Given the description of an element on the screen output the (x, y) to click on. 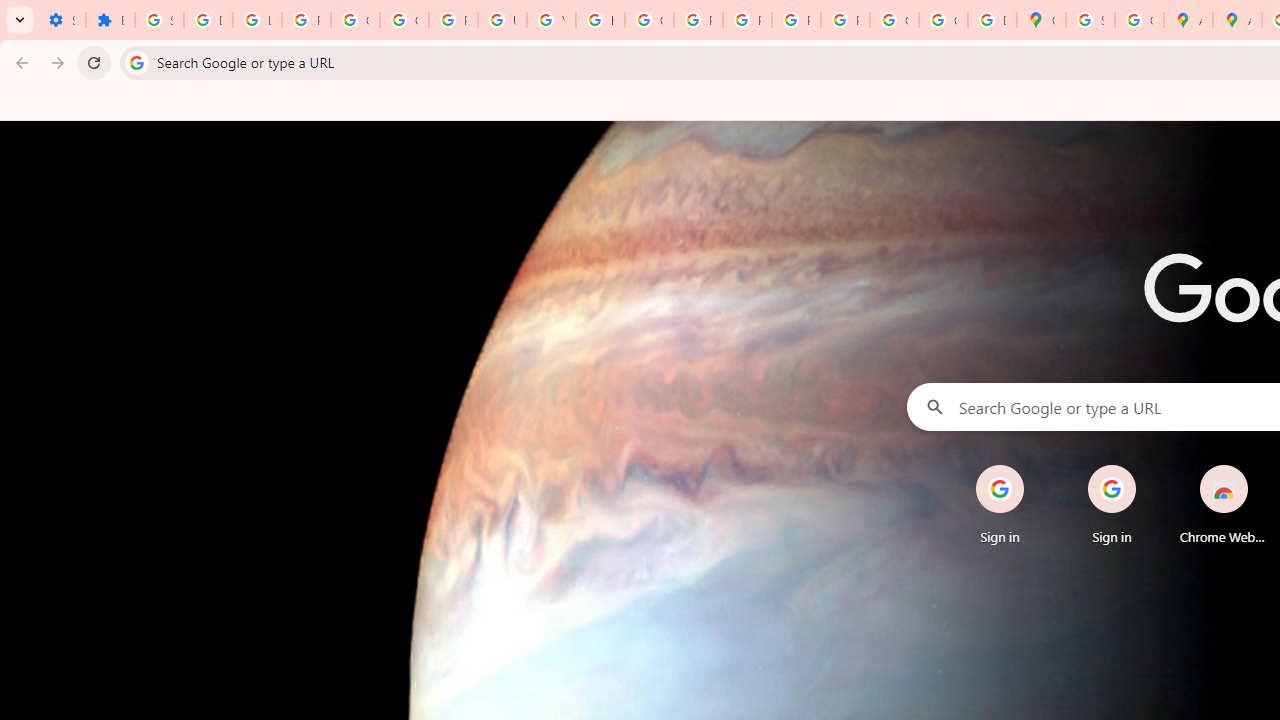
https://scholar.google.com/ (600, 20)
YouTube (551, 20)
Privacy Help Center - Policies Help (698, 20)
Create your Google Account (1138, 20)
Delete photos & videos - Computer - Google Photos Help (208, 20)
